Given the description of an element on the screen output the (x, y) to click on. 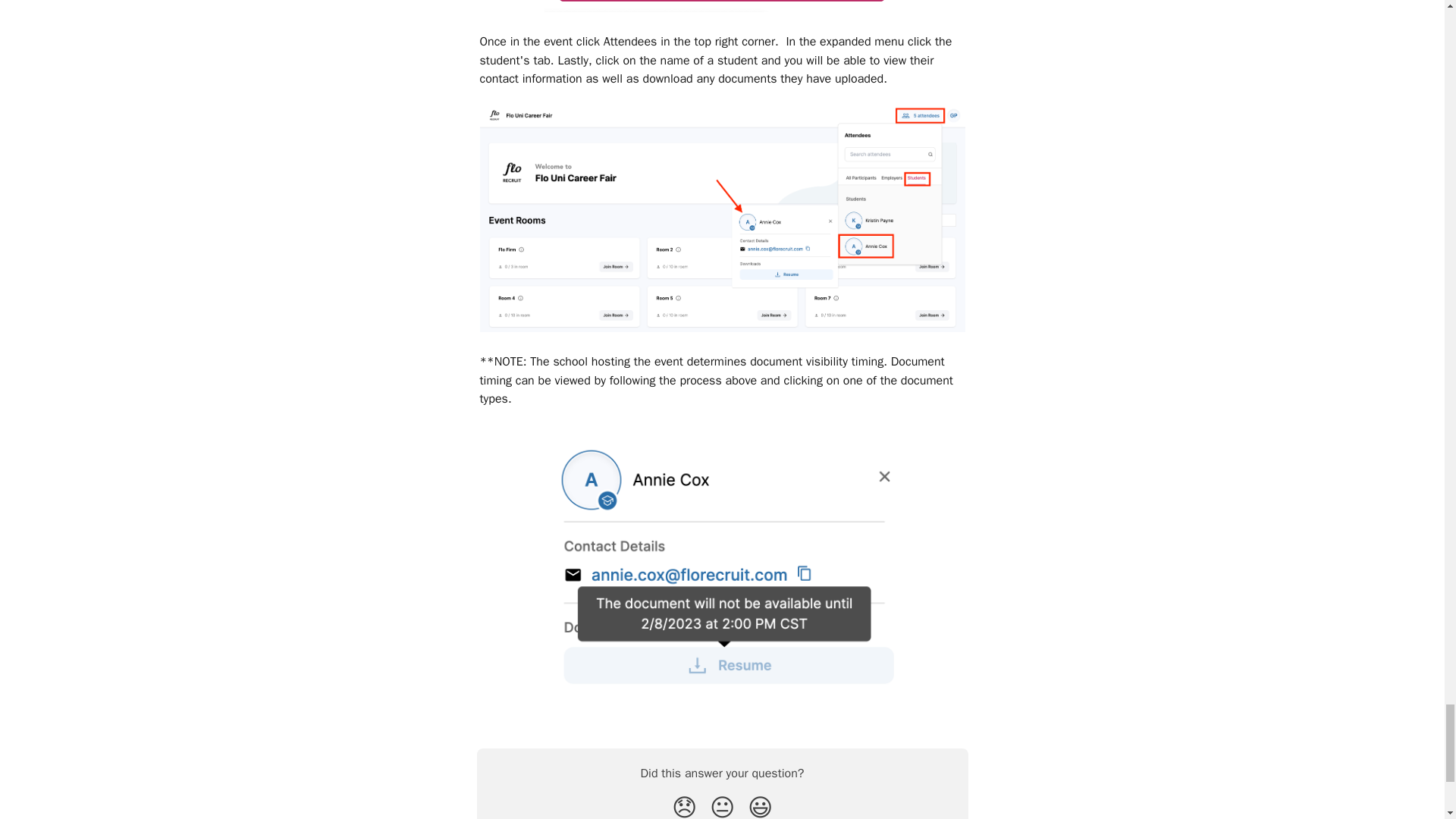
Smiley (760, 805)
Disappointed (684, 805)
Neutral (722, 805)
